Given the description of an element on the screen output the (x, y) to click on. 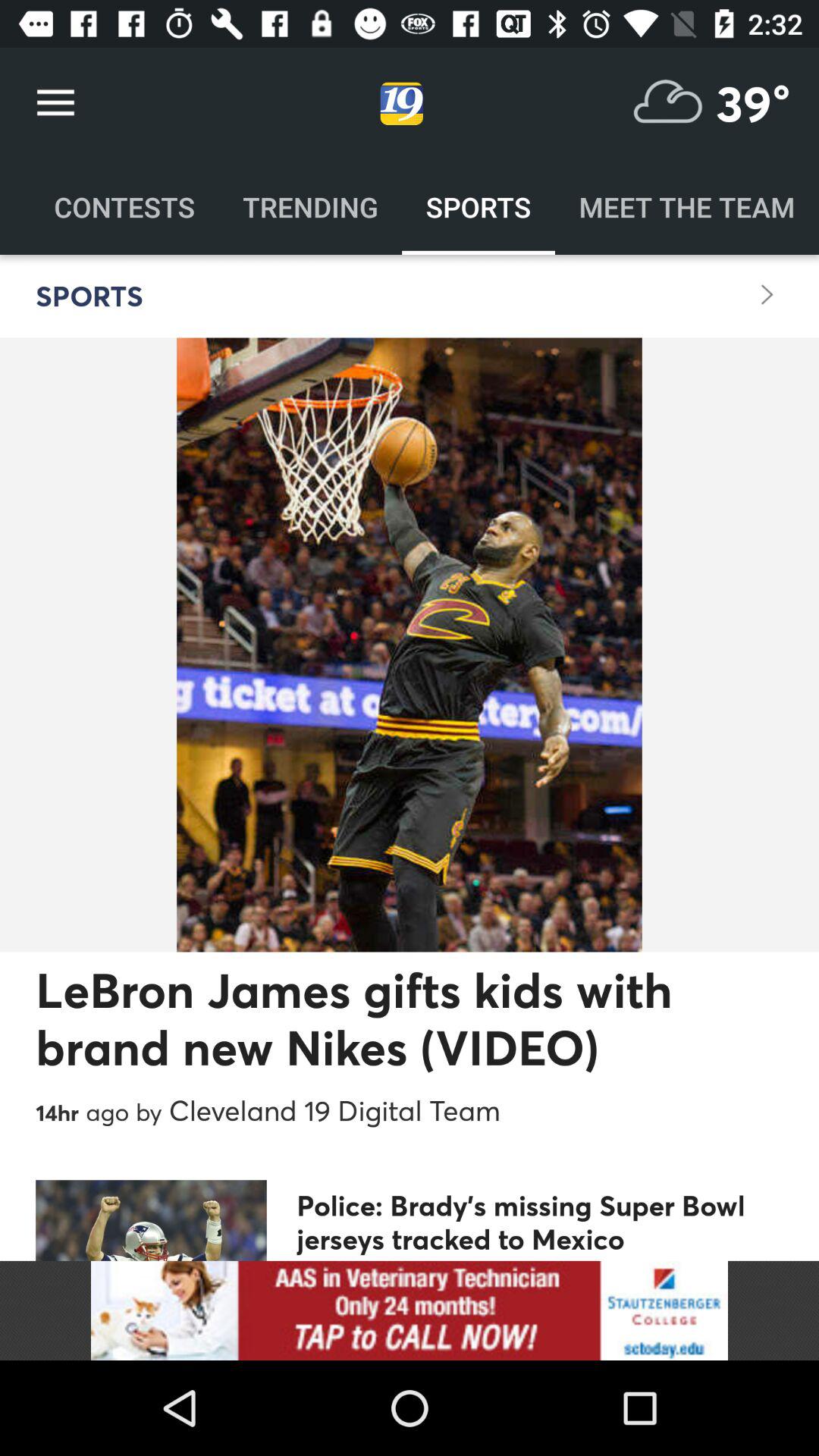
open advertisement (409, 1310)
